Given the description of an element on the screen output the (x, y) to click on. 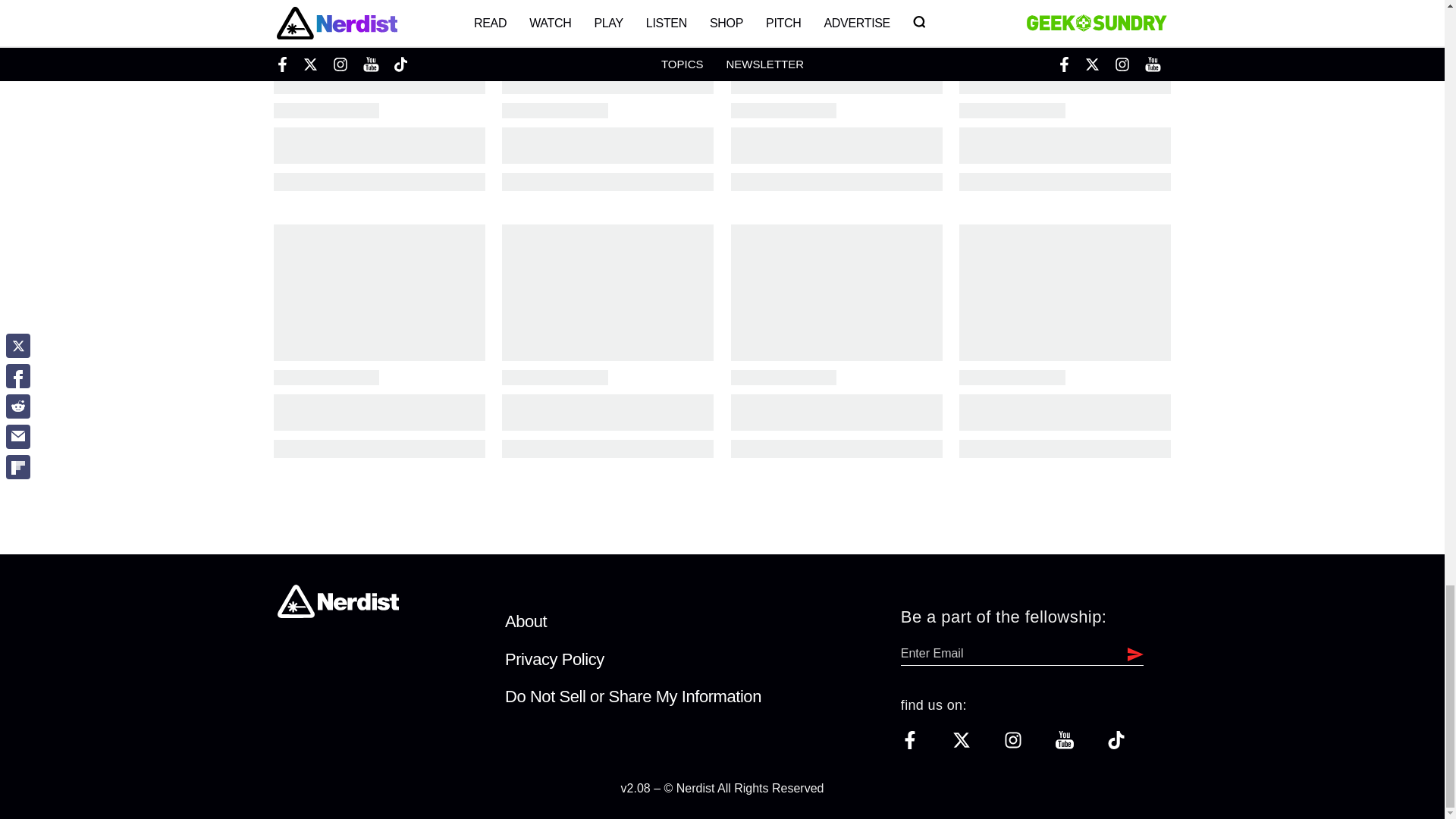
Sign Up (1131, 653)
Do Not Sell or Share My Information (633, 696)
Sign Up (1131, 653)
Privacy Policy (554, 659)
About (526, 620)
